Given the description of an element on the screen output the (x, y) to click on. 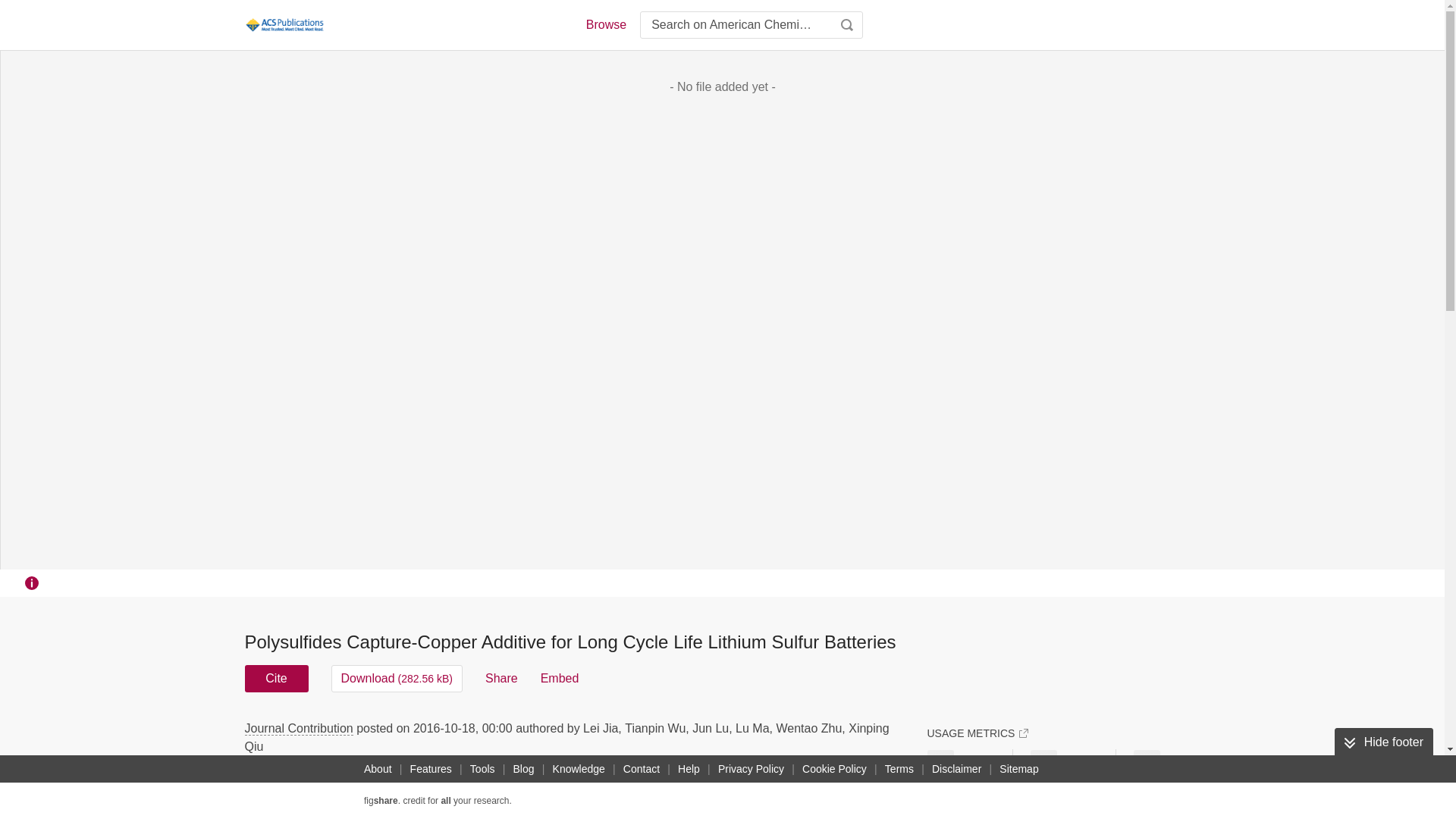
Share (501, 678)
USAGE METRICS (976, 732)
Embed (559, 678)
Browse (605, 24)
Cite (275, 678)
